Given the description of an element on the screen output the (x, y) to click on. 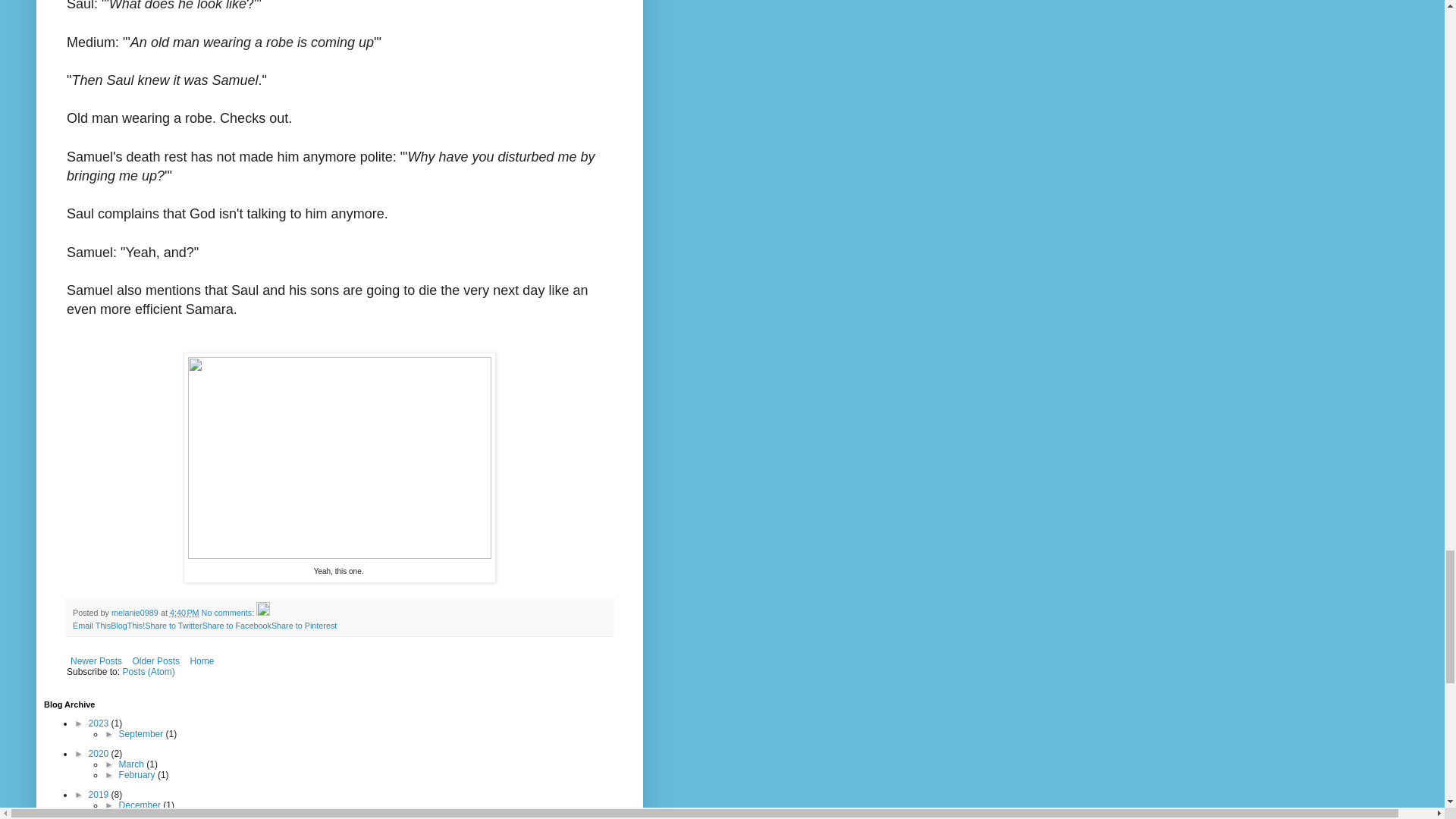
No comments: (229, 612)
Email This (91, 624)
Email This (91, 624)
September (142, 733)
Share to Pinterest (303, 624)
BlogThis! (127, 624)
Home (201, 660)
melanie0989 (136, 612)
Share to Twitter (173, 624)
2023 (100, 723)
permanent link (184, 612)
Share to Twitter (173, 624)
Share to Facebook (236, 624)
Share to Pinterest (303, 624)
